Given the description of an element on the screen output the (x, y) to click on. 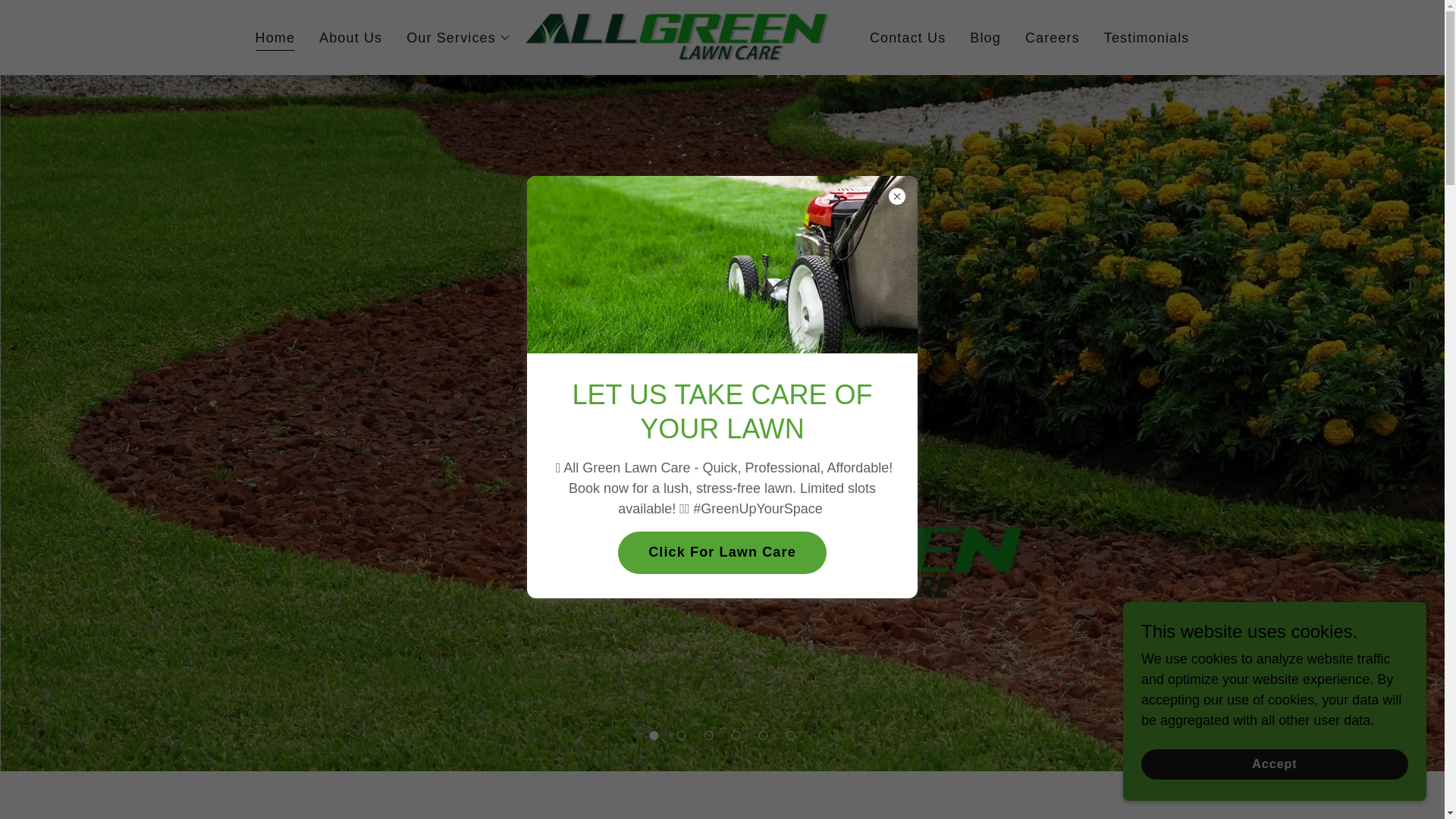
Careers (1052, 37)
All Green Lawn Care (678, 36)
Contact Us (907, 37)
About Us (350, 37)
Blog (985, 37)
Home (274, 39)
Our Services (458, 37)
Testimonials (1146, 37)
